Given the description of an element on the screen output the (x, y) to click on. 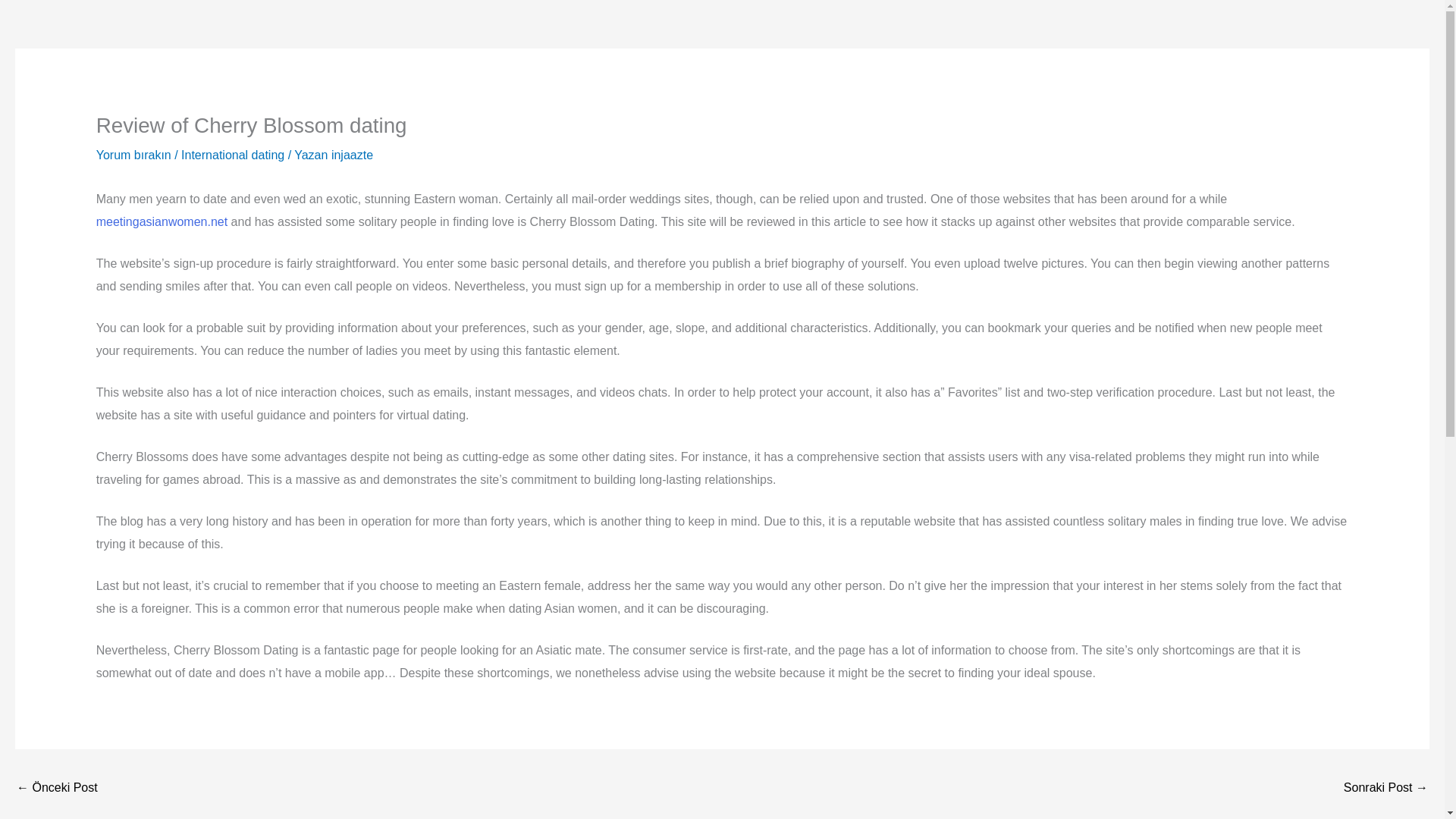
International dating (231, 154)
meetingasianwomen.net (161, 221)
How to set up a Marrying StatusOnline (56, 788)
Interesting Wedding Customs in Europe (1385, 788)
injaazte (351, 154)
